Given the description of an element on the screen output the (x, y) to click on. 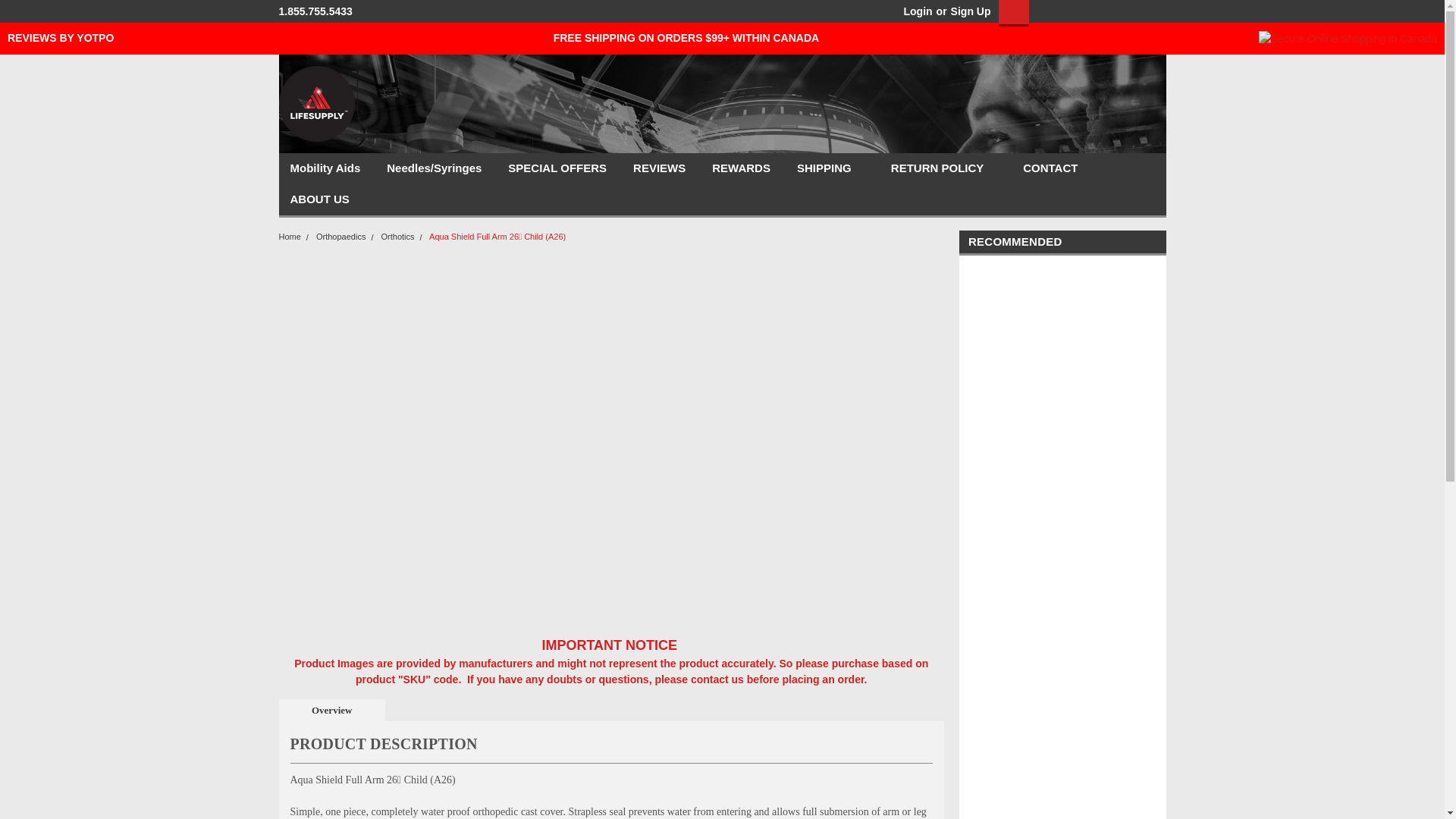
REVIEWS BY YOTPO (60, 37)
Login (918, 11)
Lifesupply.ca - Canadian Wellness Shopping Destination (317, 103)
Enhanced Security Verification Seal (1348, 37)
REVIEWS BY YOTPO (60, 37)
Sign Up (969, 11)
